Given the description of an element on the screen output the (x, y) to click on. 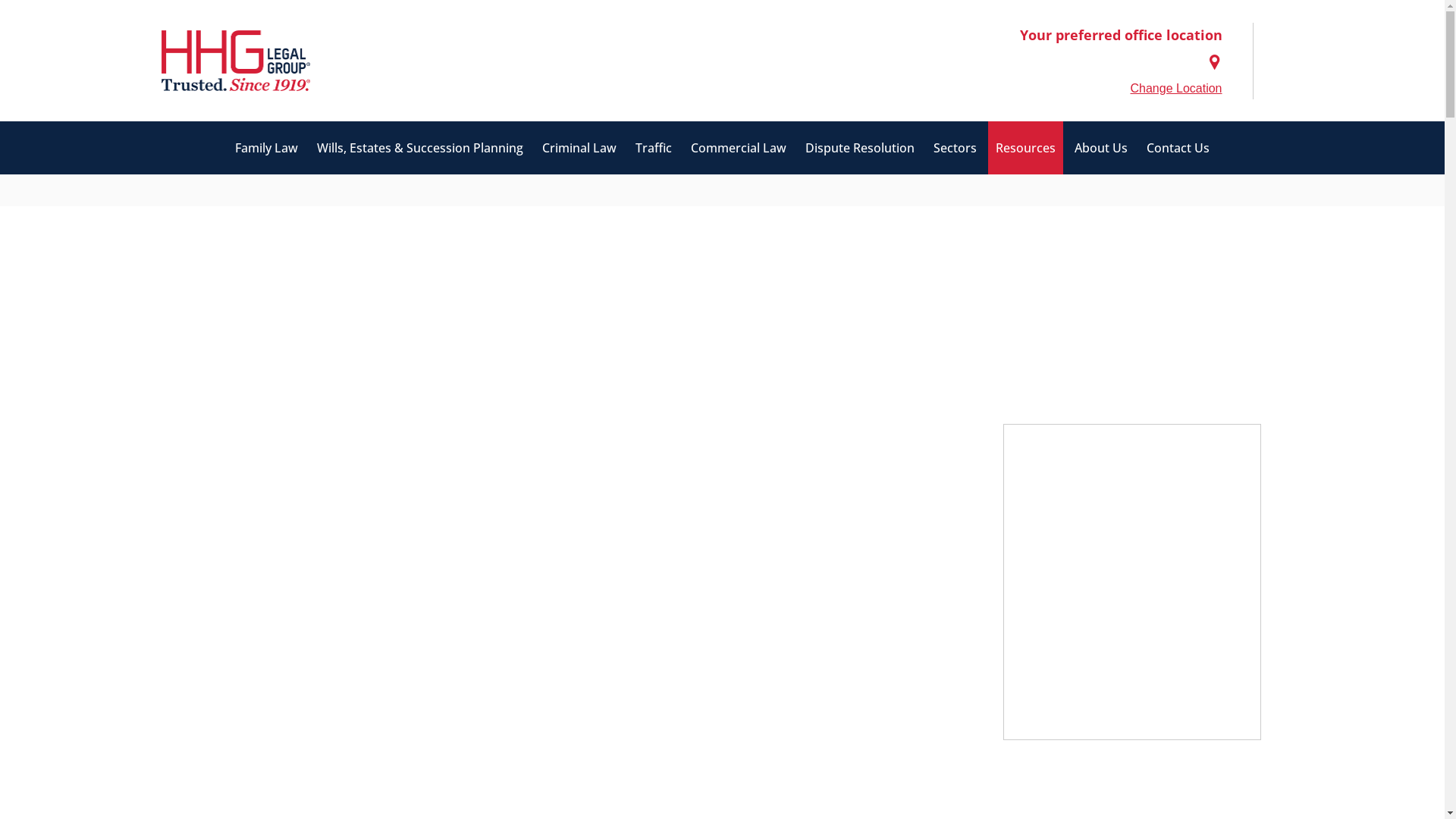
Dispute Resolution Element type: text (859, 147)
Resources Element type: text (1025, 147)
Wills, Estates & Succession Planning Element type: text (419, 147)
Change Location Element type: text (1176, 88)
Commercial Law Element type: text (738, 147)
Contact Us Element type: text (1178, 147)
Sectors Element type: text (954, 147)
About Us Element type: text (1100, 147)
Family Law Element type: text (266, 147)
Traffic Element type: text (653, 147)
Criminal Law Element type: text (579, 147)
